Given the description of an element on the screen output the (x, y) to click on. 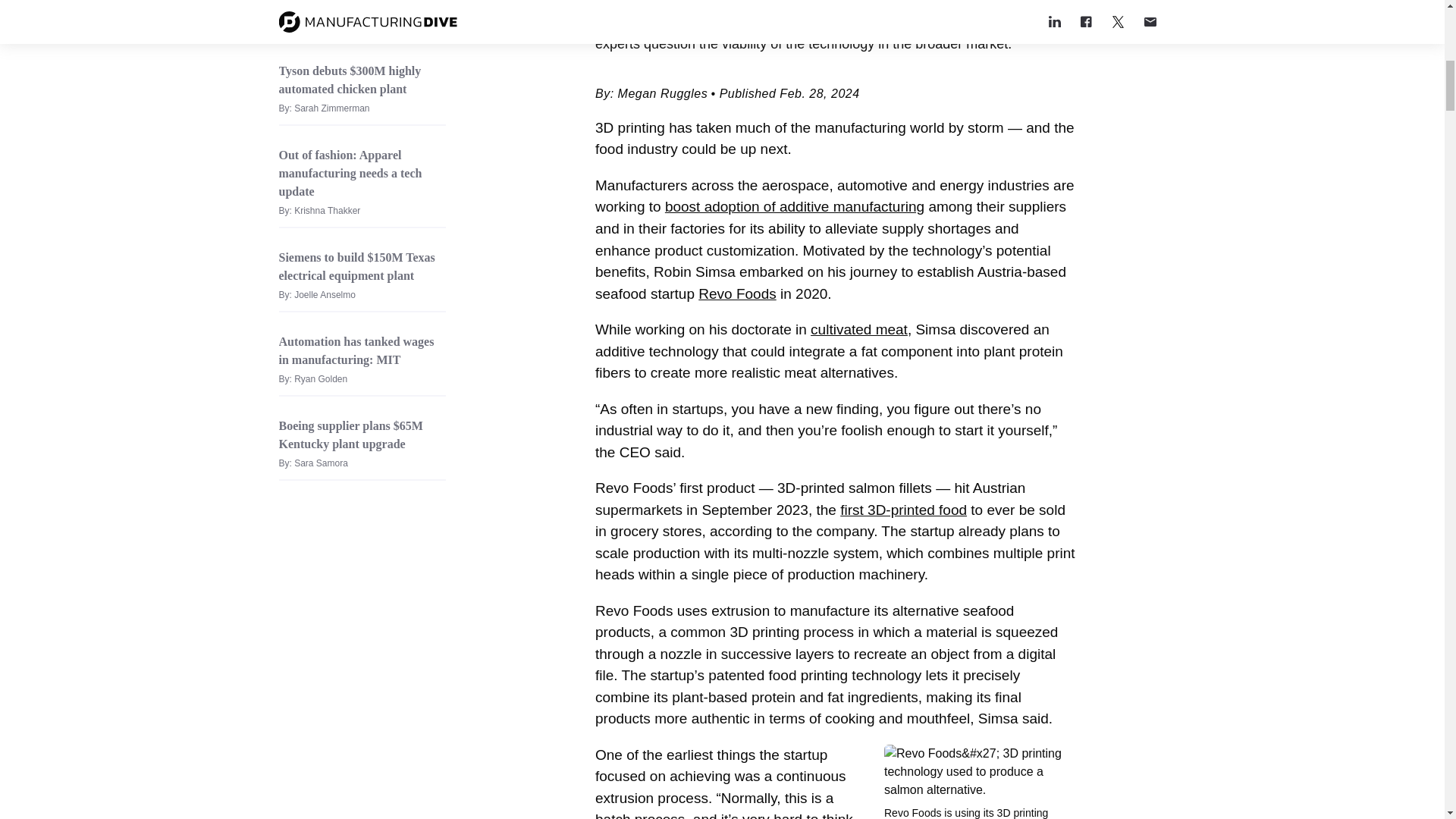
cultivated meat (858, 329)
first 3D-printed food (903, 509)
boost adoption of additive manufacturing (794, 206)
Revo Foods (737, 293)
